Given the description of an element on the screen output the (x, y) to click on. 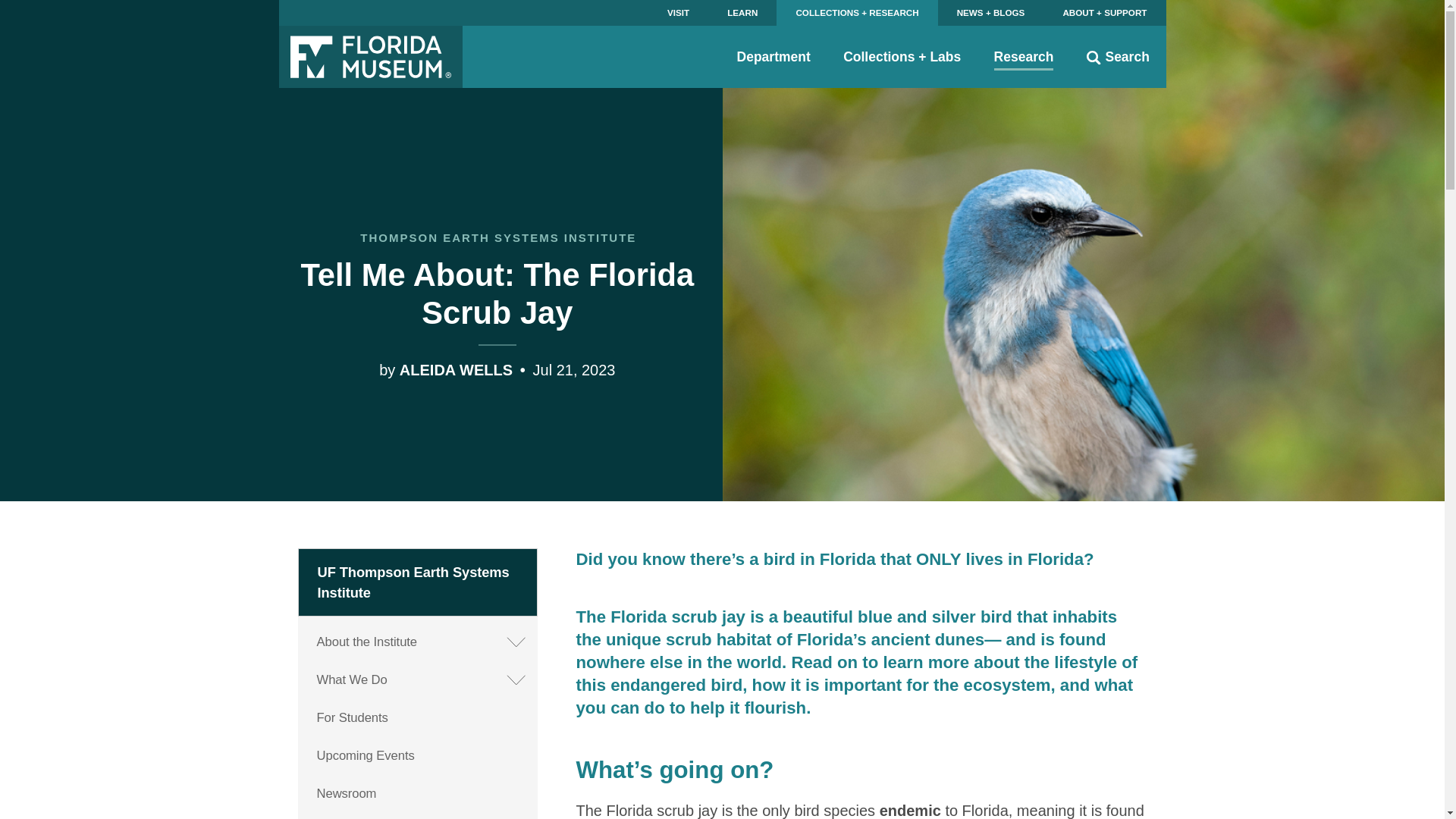
UF Thompson Earth Systems Institute (418, 581)
Florida Museum (371, 56)
About the Institute (418, 641)
LEARN (741, 12)
Research (1024, 56)
What We Do (418, 679)
Search (1118, 56)
Department (773, 56)
VISIT (677, 12)
